Given the description of an element on the screen output the (x, y) to click on. 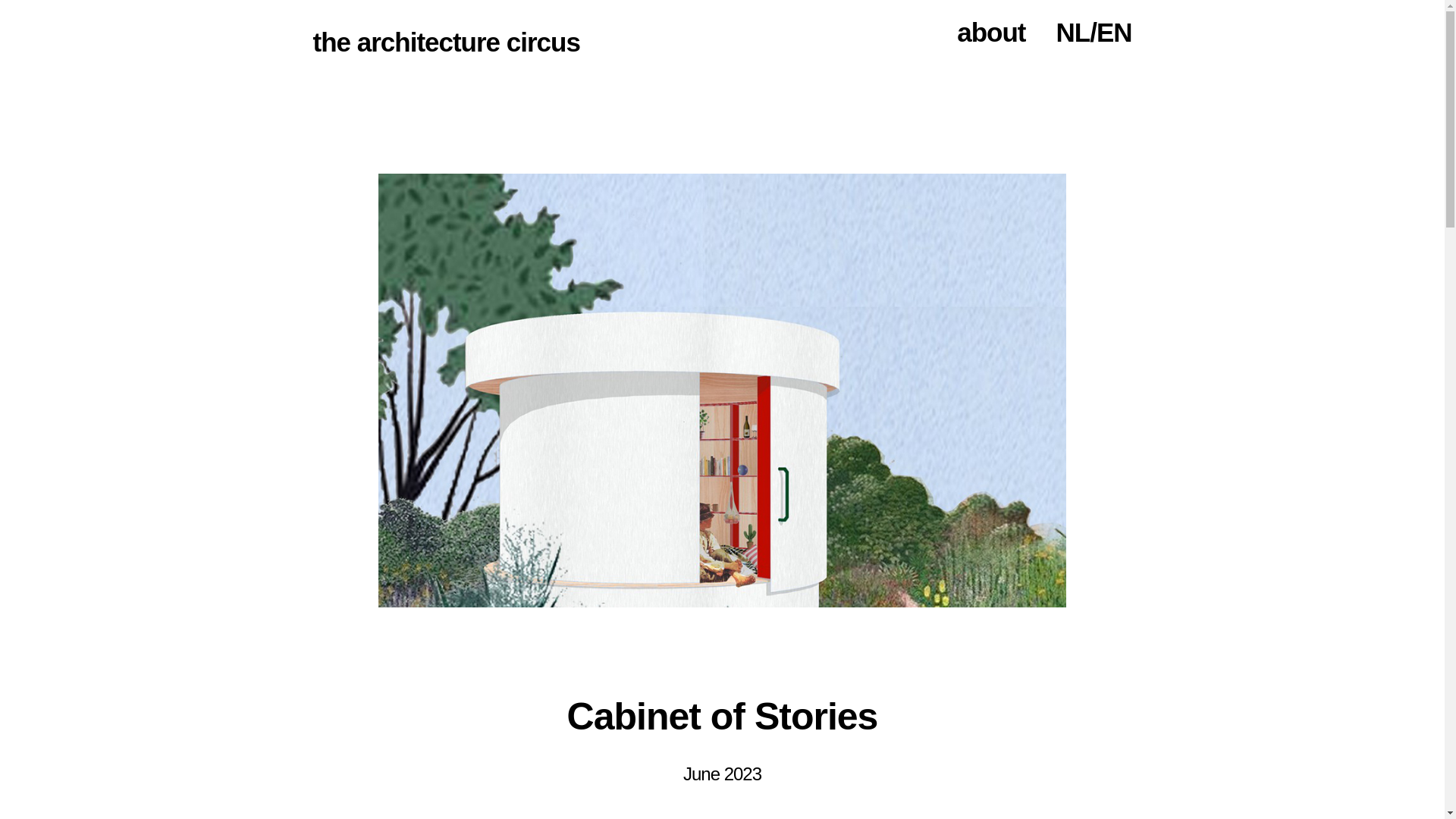
June 2023 (721, 773)
the architecture circus (446, 41)
about (991, 32)
